Given the description of an element on the screen output the (x, y) to click on. 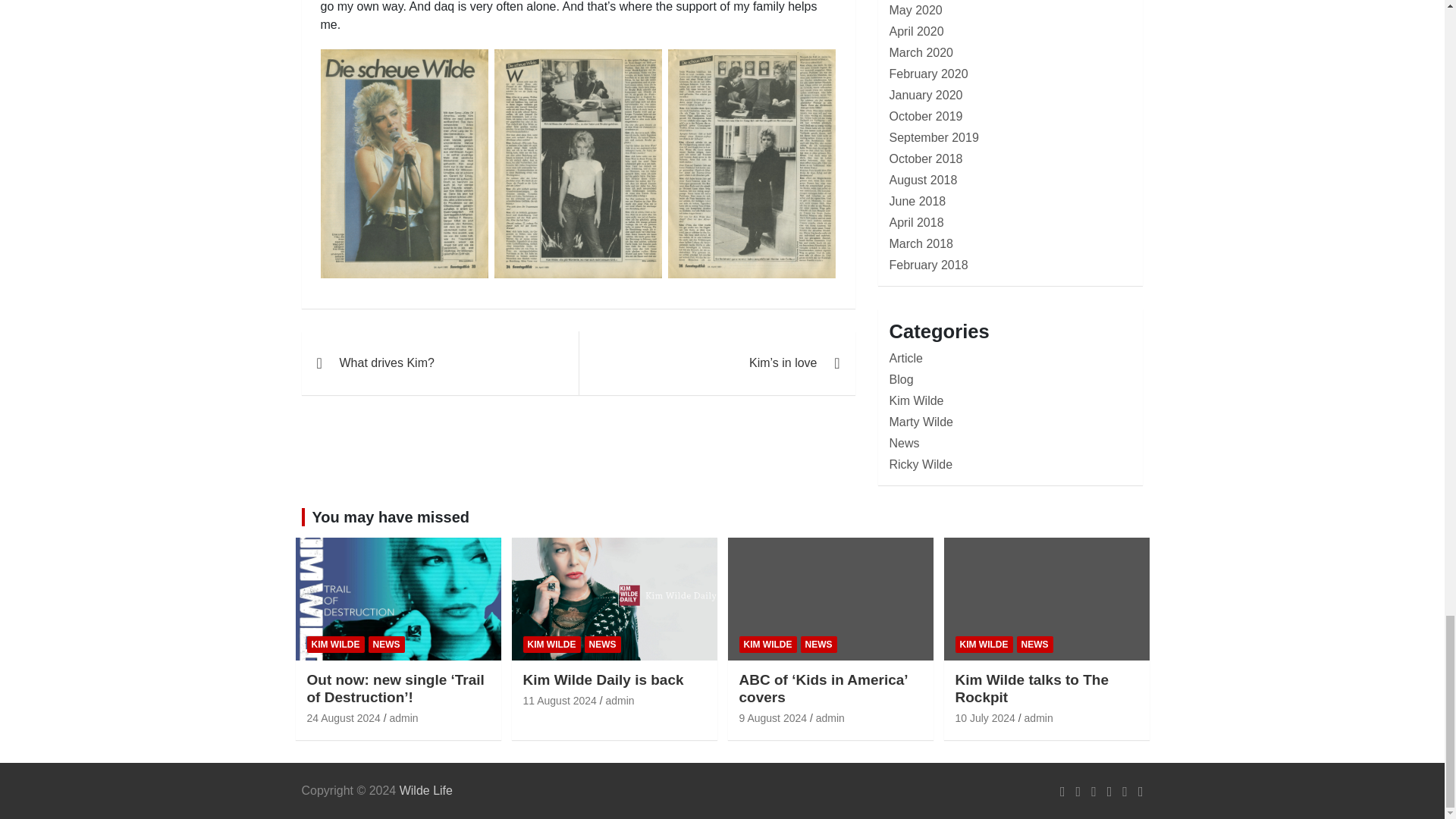
Kim Wilde Daily is back (559, 700)
Kim Wilde talks to The Rockpit (984, 717)
Wilde Life (425, 789)
